Given the description of an element on the screen output the (x, y) to click on. 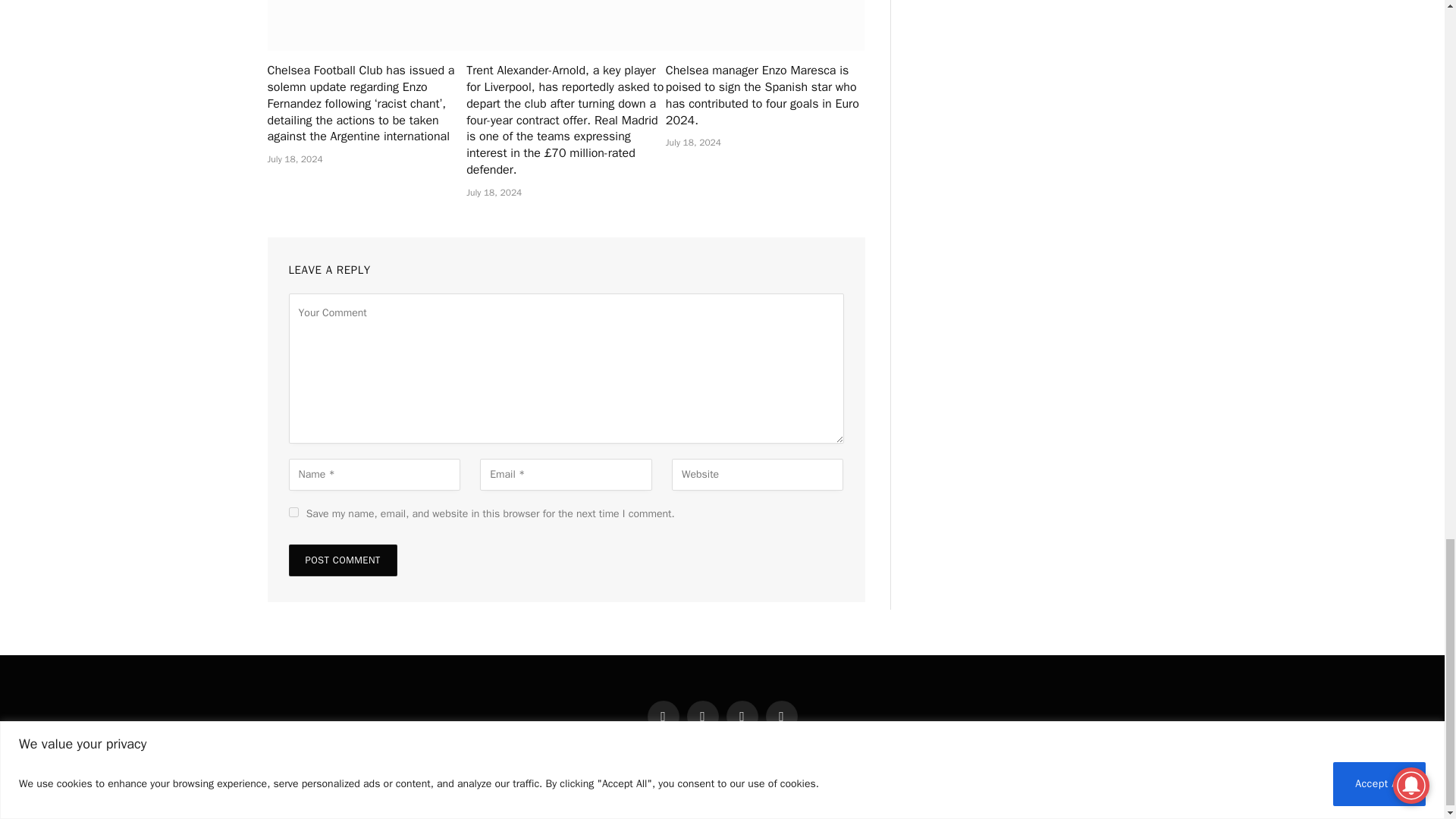
Post Comment (342, 560)
yes (293, 511)
